Given the description of an element on the screen output the (x, y) to click on. 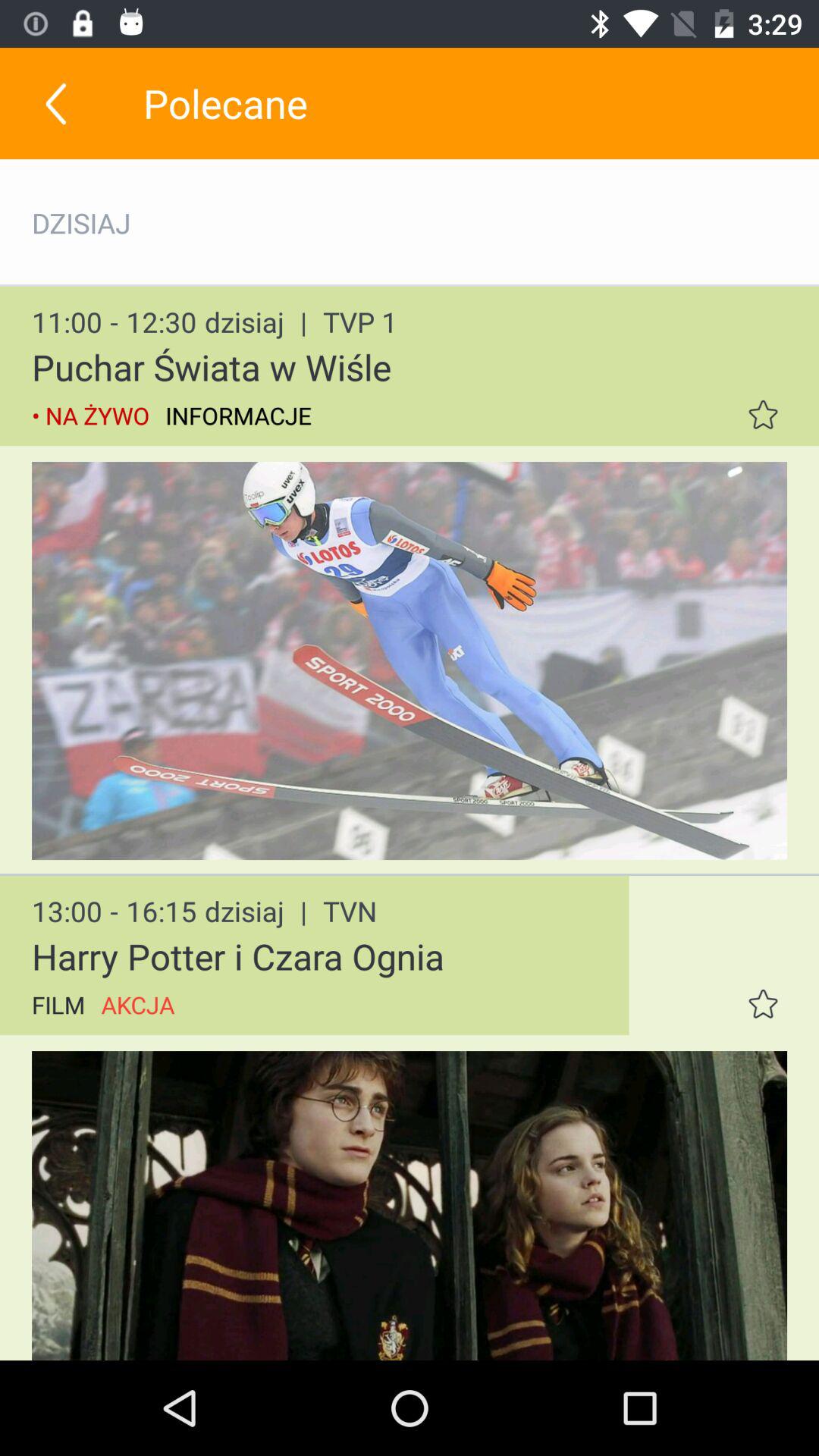
tap the icon next to polecane (55, 103)
